Given the description of an element on the screen output the (x, y) to click on. 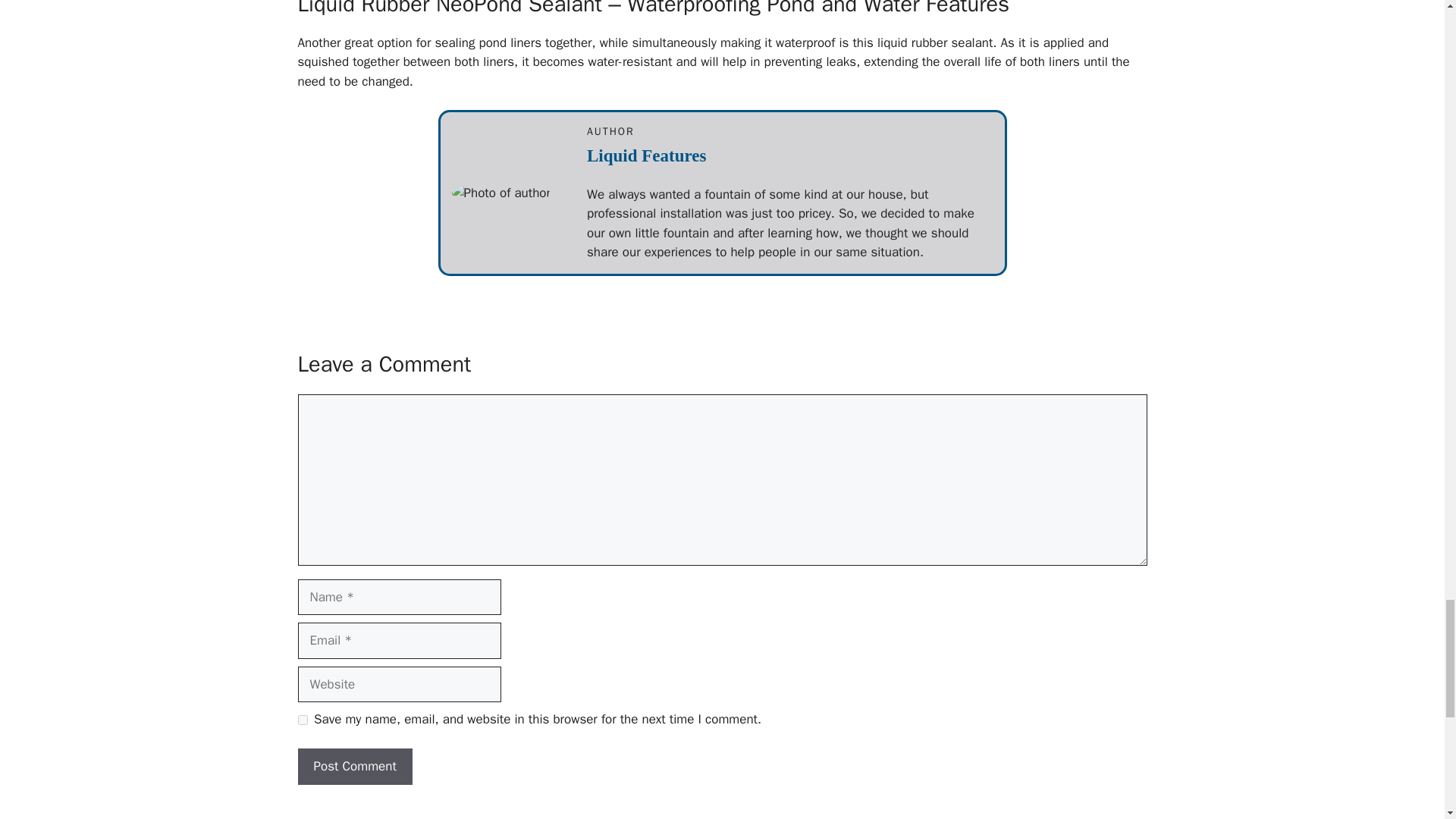
Post Comment (354, 766)
Post Comment (354, 766)
yes (302, 719)
Liquid Features (646, 155)
